Given the description of an element on the screen output the (x, y) to click on. 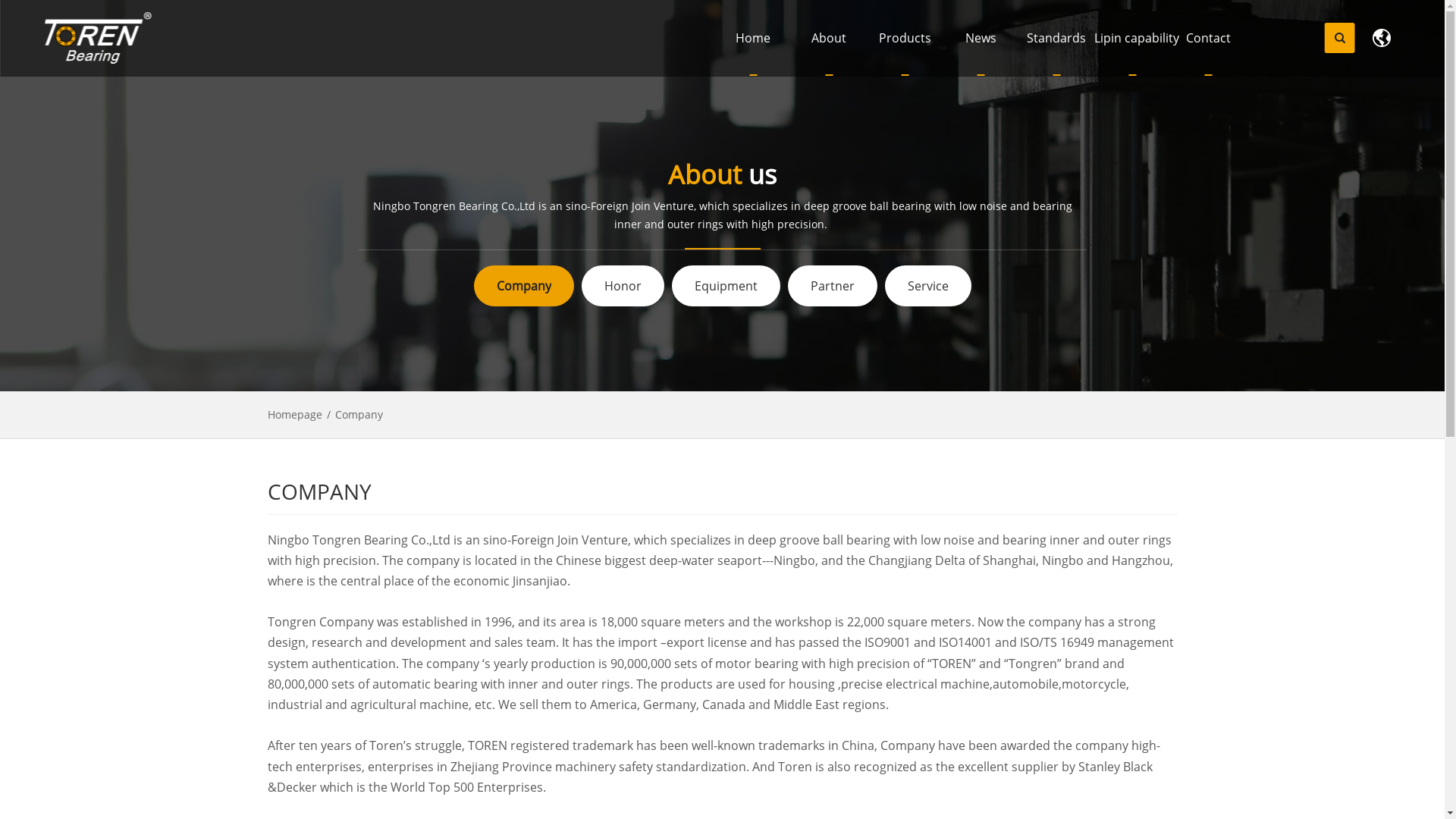
Service Element type: text (926, 285)
Contact Element type: text (1207, 37)
Homepage Element type: text (293, 414)
Partner Element type: text (831, 285)
TOREN Element type: hover (97, 37)
Lipin capability Element type: text (1132, 37)
Standards Element type: text (1056, 37)
News Element type: text (980, 37)
Equipment Element type: text (725, 285)
Honor Element type: text (621, 285)
EN Element type: hover (1381, 37)
Home Element type: text (752, 37)
Company Element type: text (522, 285)
Products Element type: text (904, 37)
About Element type: text (828, 37)
